Given the description of an element on the screen output the (x, y) to click on. 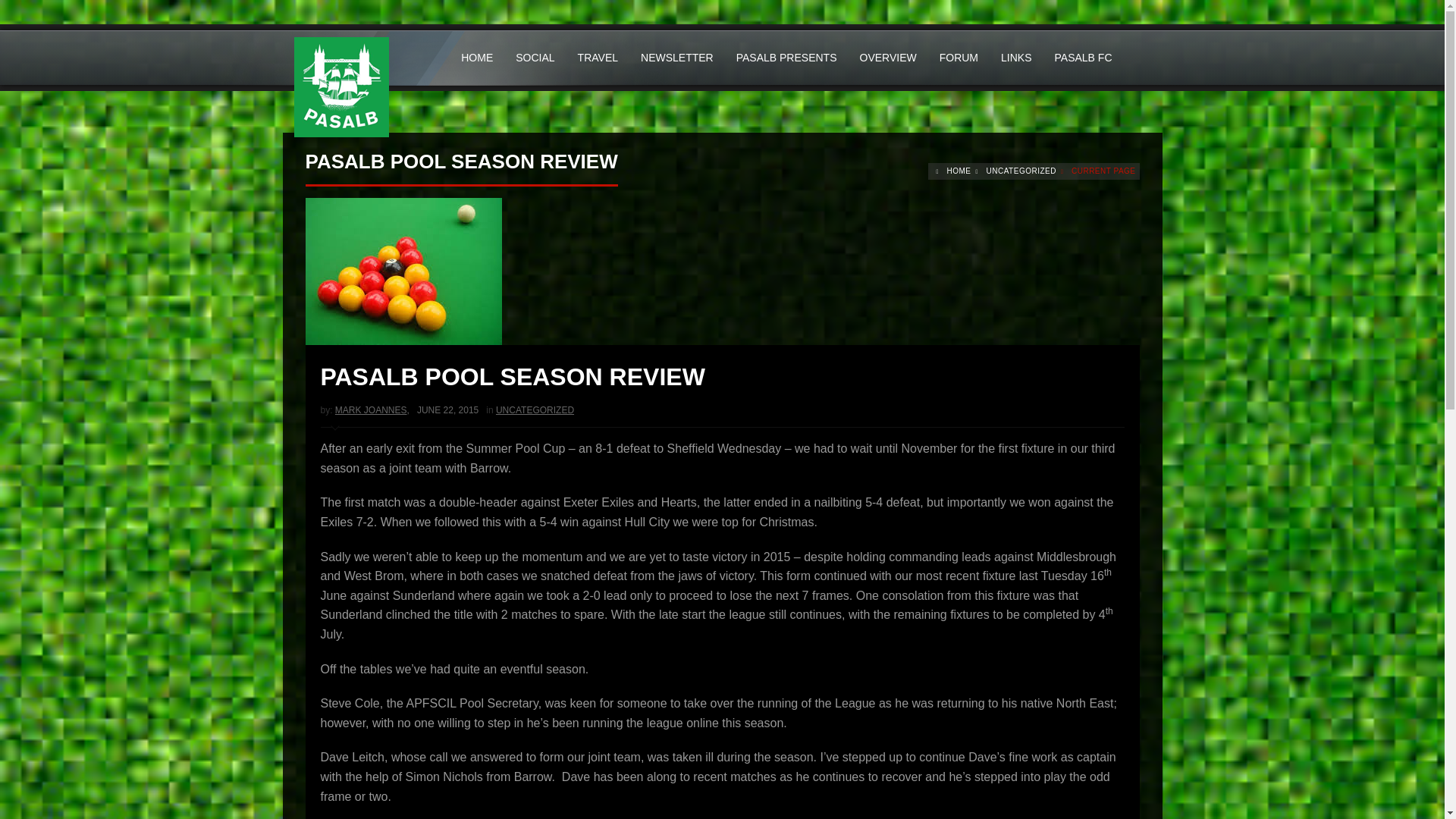
UNCATEGORIZED (1022, 171)
HOME (476, 57)
PASALB PRESENTS (786, 57)
FORUM (959, 57)
TRAVEL (597, 57)
UNCATEGORIZED (534, 409)
LINKS (1016, 57)
NEWSLETTER (676, 57)
PASALB FC (1083, 57)
OVERVIEW (887, 57)
